Given the description of an element on the screen output the (x, y) to click on. 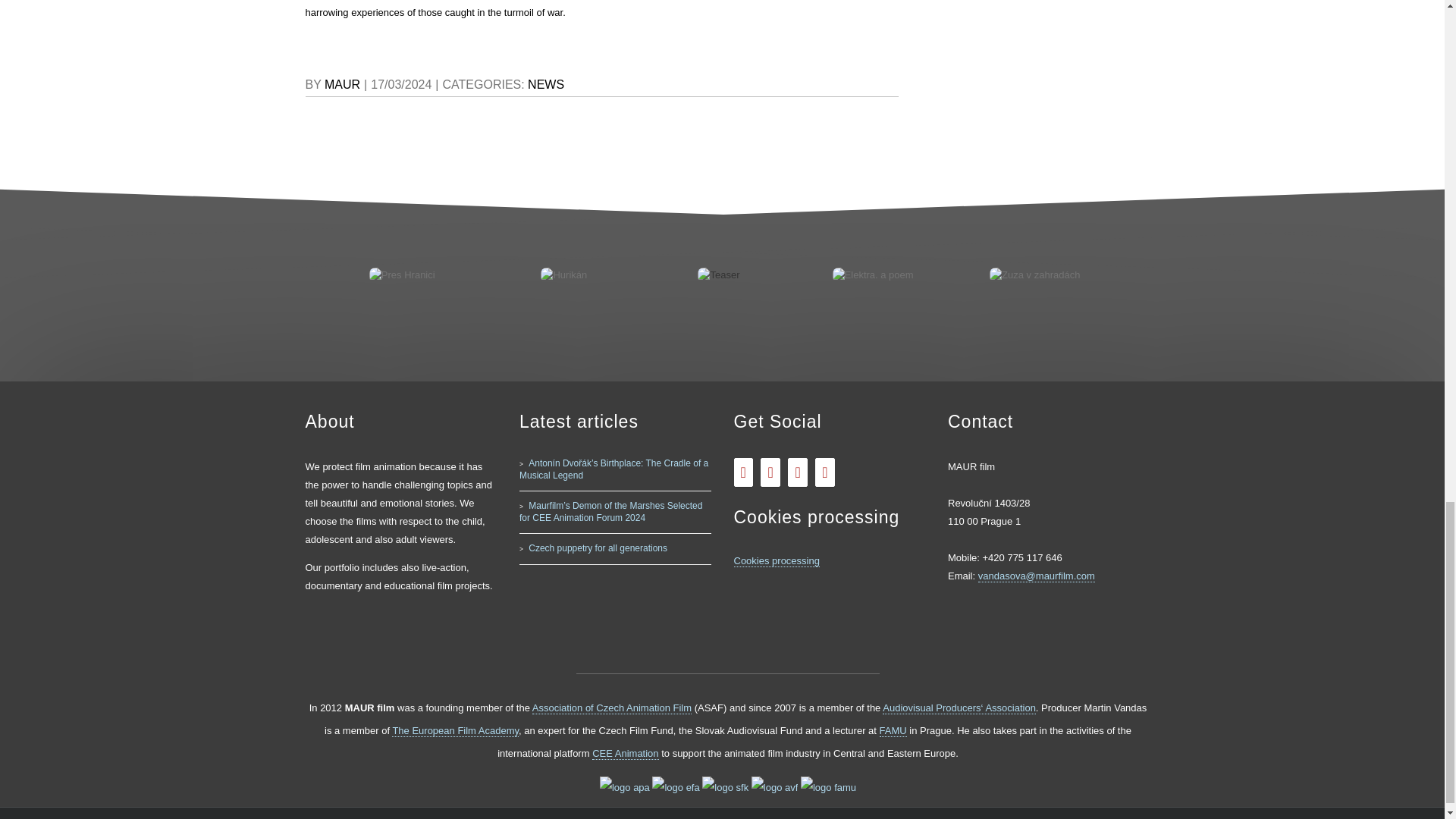
Posts by Maur (341, 83)
NEWS (545, 83)
MAUR (341, 83)
